Given the description of an element on the screen output the (x, y) to click on. 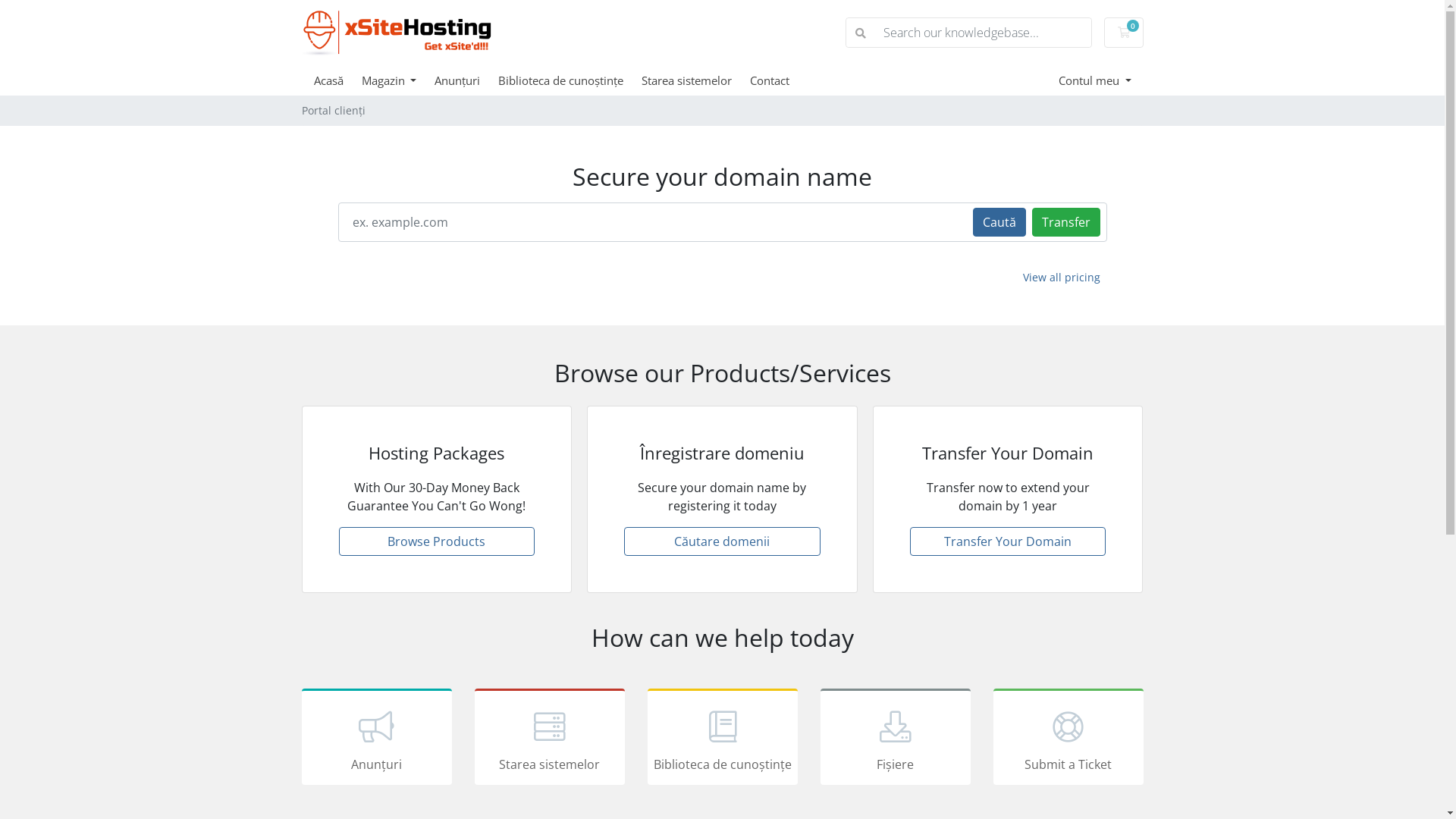
View all pricing Element type: text (1061, 276)
Magazin Element type: text (397, 79)
Starea sistemelor Element type: text (549, 736)
Contact Element type: text (778, 79)
Starea sistemelor Element type: text (695, 79)
Contul meu Element type: text (1094, 79)
Browse Products Element type: text (436, 541)
Submit a Ticket Element type: text (1068, 736)
Transfer Element type: text (1065, 221)
Transfer Your Domain Element type: text (1008, 541)
